Given the description of an element on the screen output the (x, y) to click on. 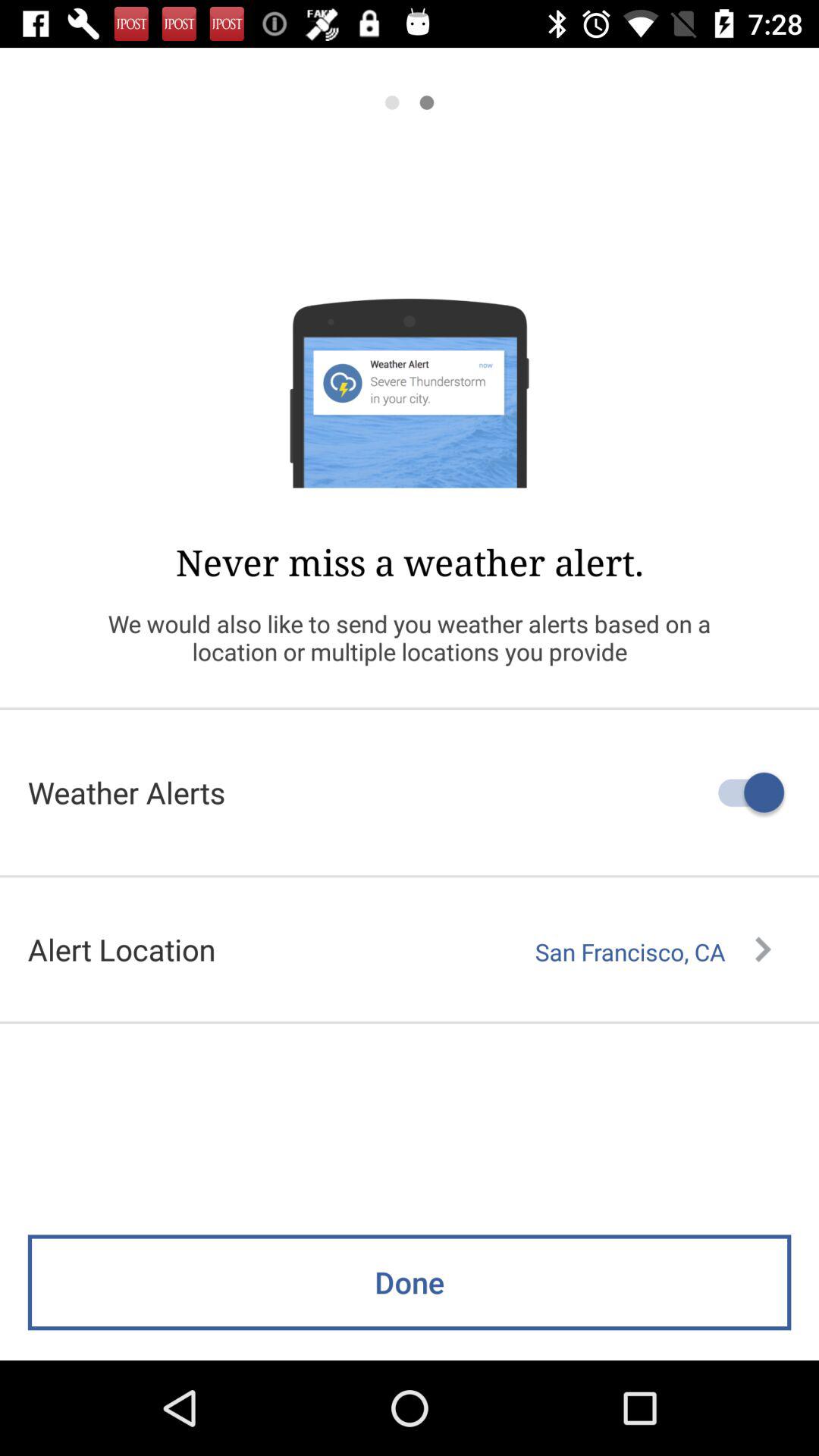
flip until san francisco, ca item (653, 951)
